Given the description of an element on the screen output the (x, y) to click on. 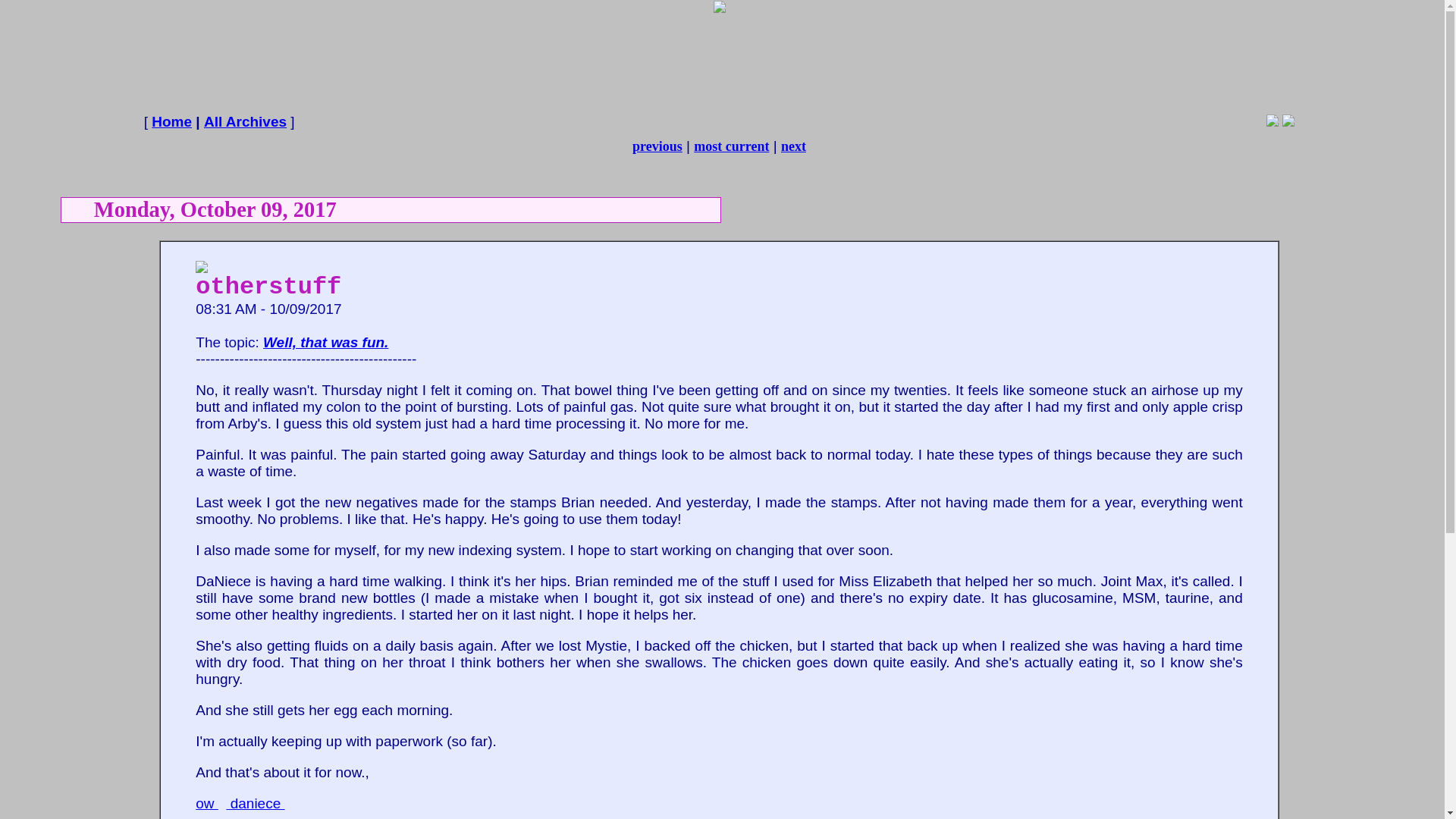
Well, that was fun. (325, 342)
next (793, 145)
most current (731, 145)
previous (656, 145)
daniece (254, 803)
All Archives (244, 121)
Home (171, 121)
ow (206, 803)
